Given the description of an element on the screen output the (x, y) to click on. 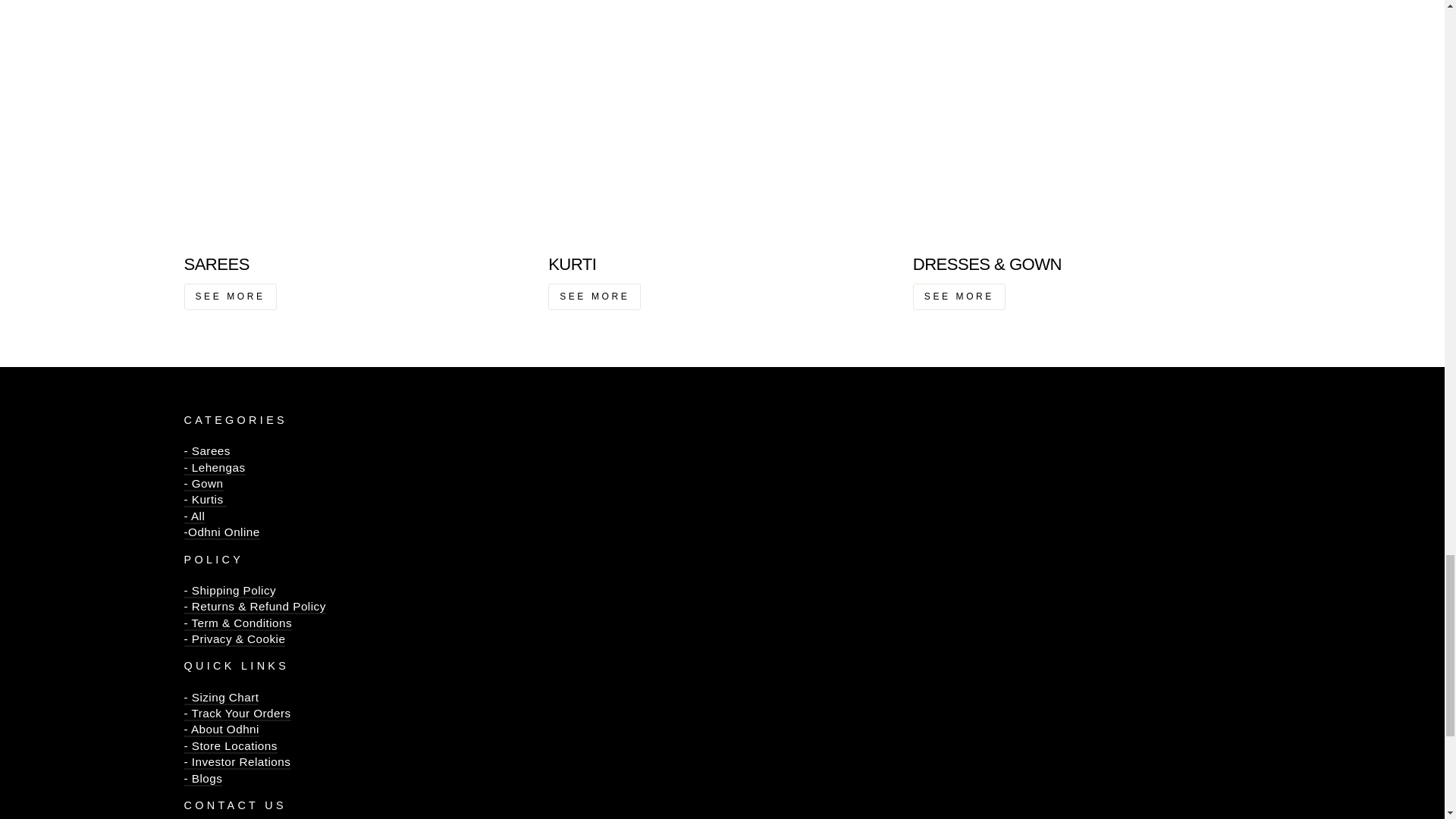
Sarees (206, 459)
Kurtis (205, 499)
Lehengas (213, 468)
Party Wear Gown For Women (202, 483)
